Given the description of an element on the screen output the (x, y) to click on. 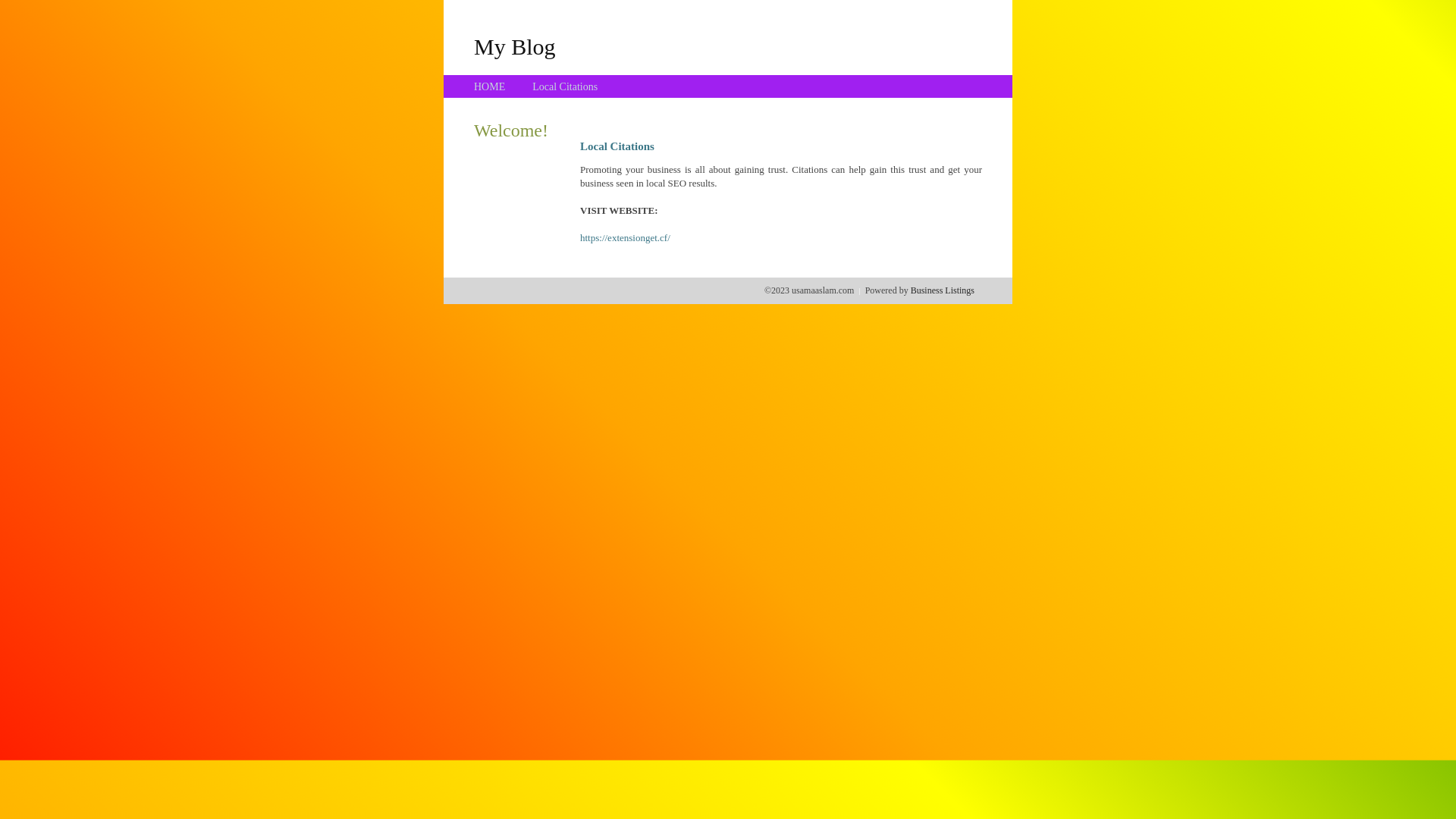
My Blog Element type: text (514, 46)
Local Citations Element type: text (564, 86)
HOME Element type: text (489, 86)
Business Listings Element type: text (942, 290)
https://extensionget.cf/ Element type: text (625, 237)
